Given the description of an element on the screen output the (x, y) to click on. 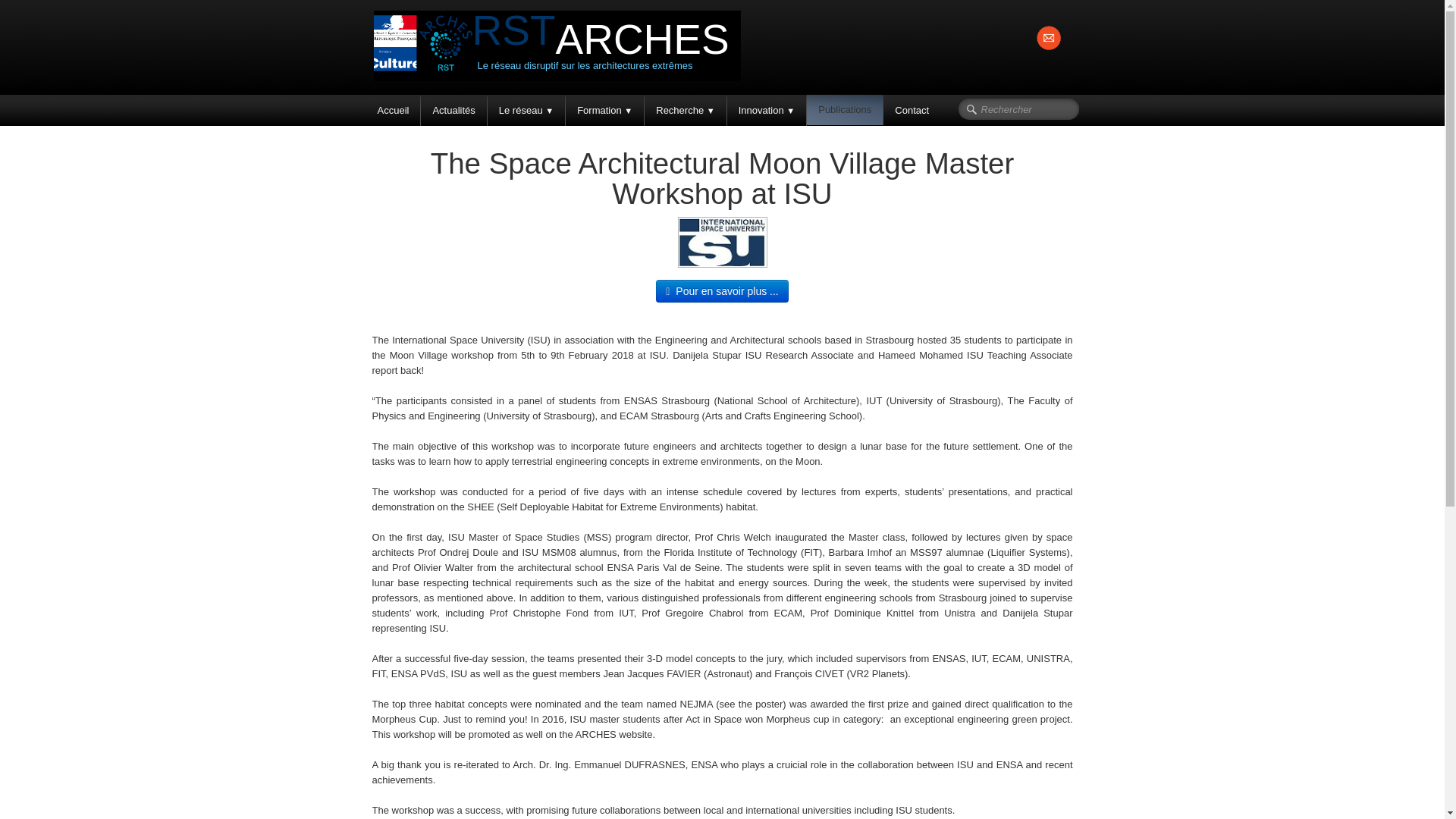
Accueil (392, 110)
Pour en savoir plus ... (722, 291)
Contact (911, 110)
Publications (844, 110)
